Given the description of an element on the screen output the (x, y) to click on. 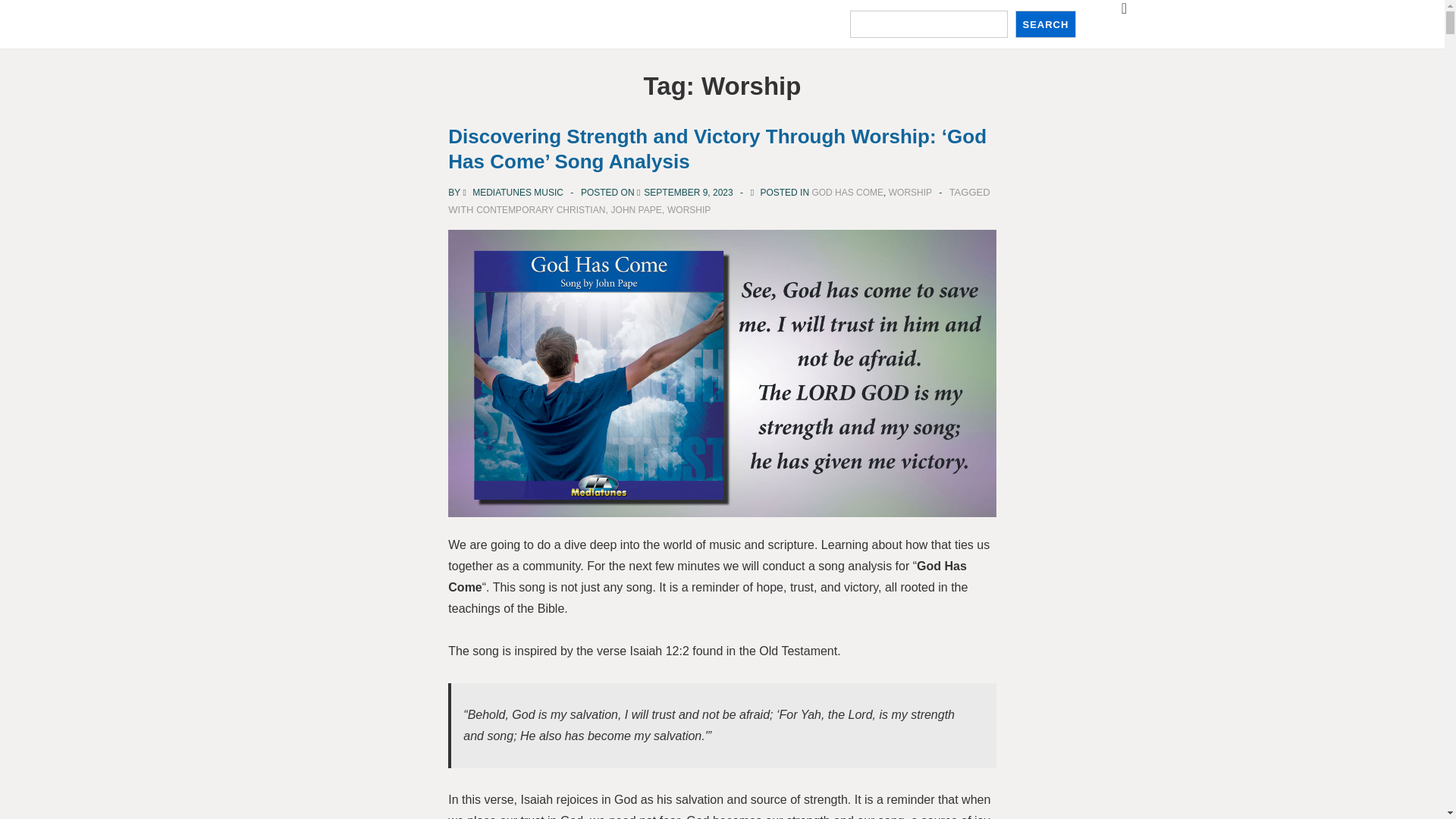
CONTEMPORARY CHRISTIAN (540, 209)
View all posts by Mediatunes Music (514, 192)
WORSHIP (909, 192)
GOD HAS COME (846, 192)
JOHN PAPE (636, 209)
WORSHIP (688, 209)
SEPTEMBER 9, 2023 (687, 192)
SEARCH (1044, 23)
MEDIATUNES MUSIC (514, 192)
